Given the description of an element on the screen output the (x, y) to click on. 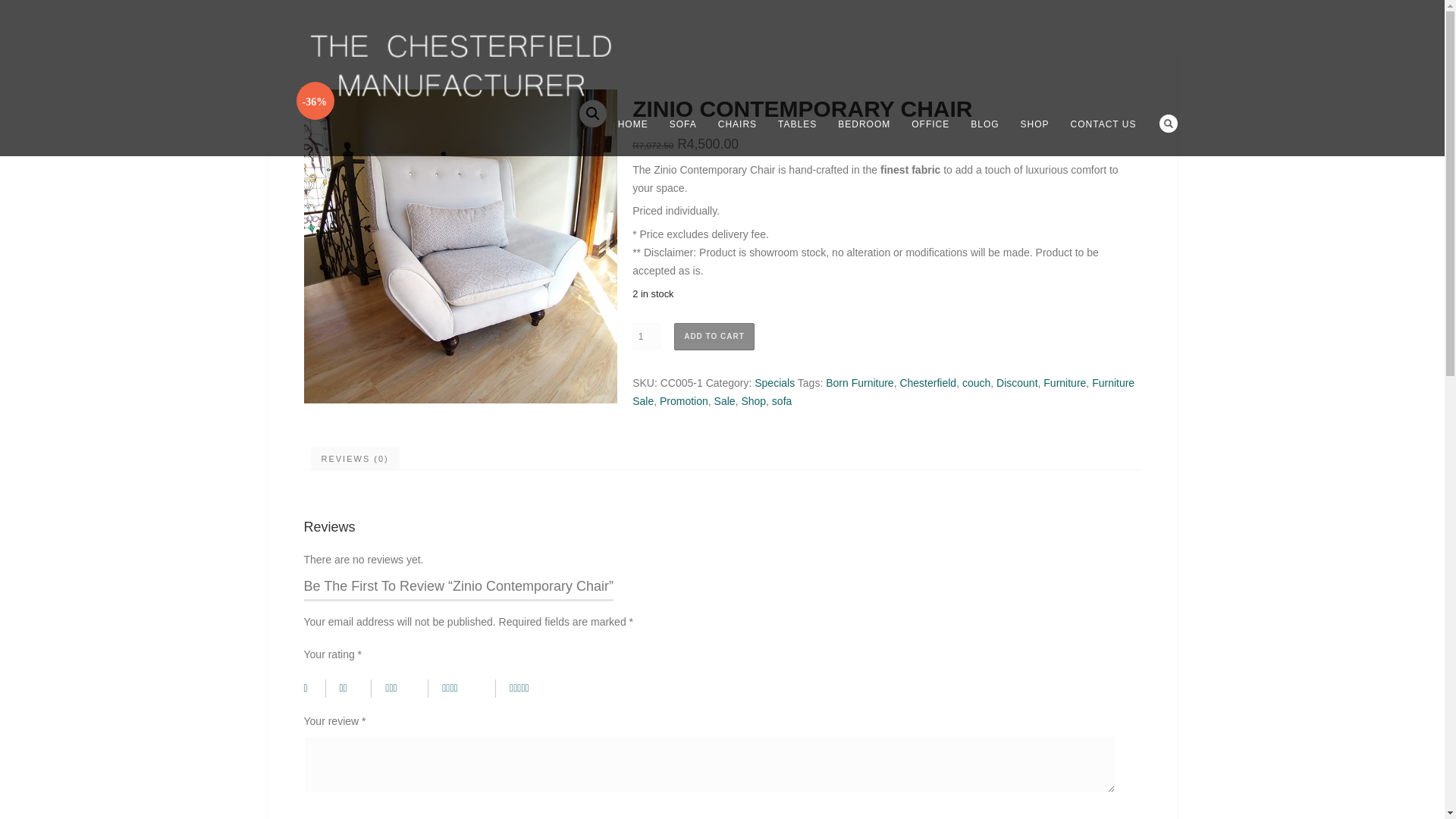
SOFA (683, 124)
white-zinio (459, 246)
HOME (633, 124)
CHAIRS (737, 124)
TABLES (797, 124)
Search (1167, 123)
CONTACT US (1103, 124)
1 (646, 335)
BEDROOM (864, 124)
BLOG (984, 124)
SHOP (1034, 124)
OFFICE (930, 124)
